Given the description of an element on the screen output the (x, y) to click on. 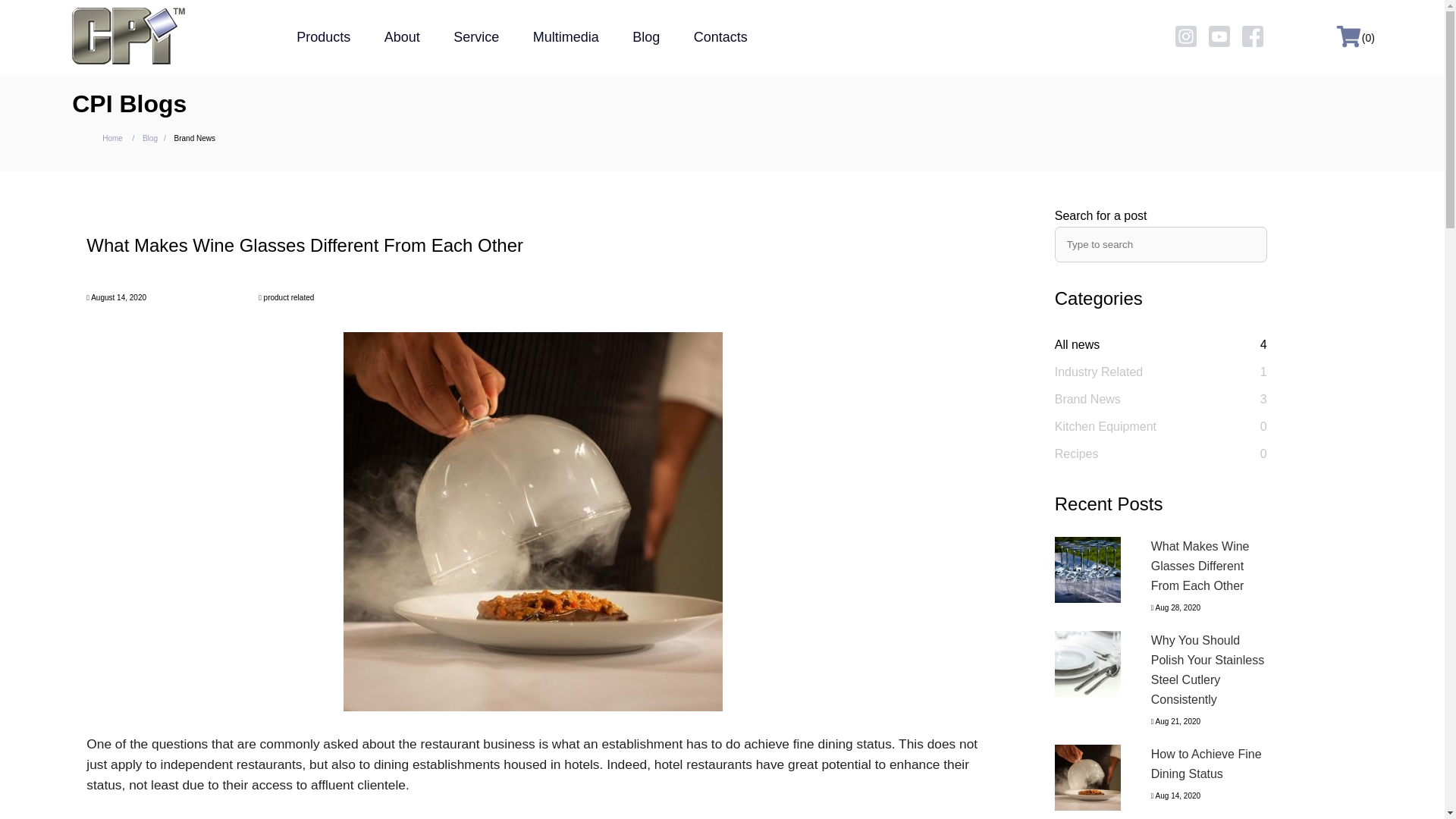
What Makes Wine Glasses Different From Each Other (1087, 569)
Contacts (721, 37)
Blog (645, 37)
Multimedia (565, 37)
Home (111, 138)
About (402, 37)
Service (475, 37)
Products (323, 37)
